Given the description of an element on the screen output the (x, y) to click on. 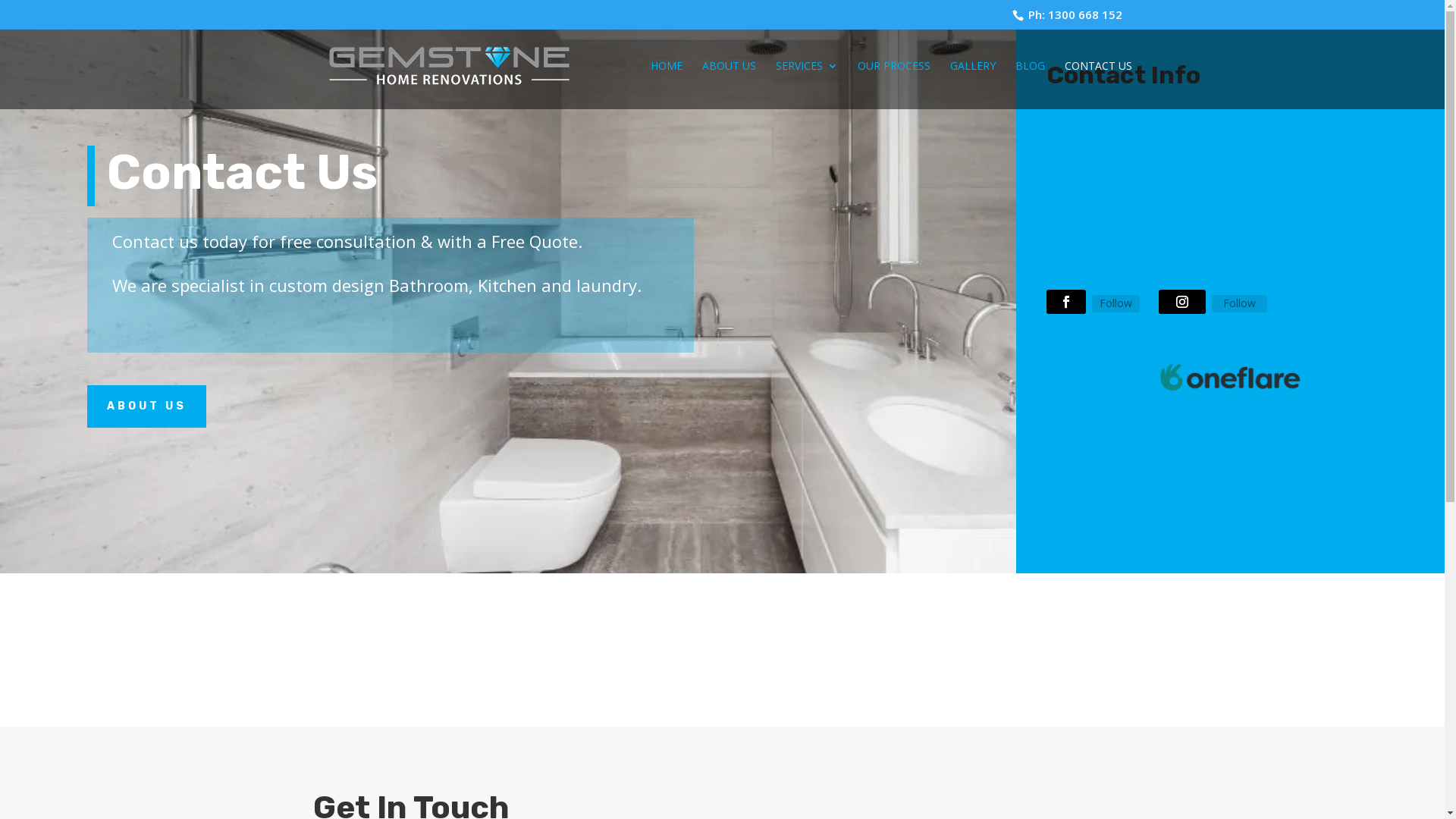
ABOUT US Element type: text (146, 406)
Follow Element type: text (1115, 302)
Follow on Facebook Element type: hover (1065, 301)
Follow Element type: text (1239, 302)
HOME Element type: text (666, 84)
OUR PROCESS Element type: text (892, 84)
1300 668 152 Element type: text (1085, 13)
BLOG Element type: text (1029, 84)
CONTACT US Element type: text (1098, 84)
GALLERY Element type: text (971, 84)
ABOUT US Element type: text (729, 84)
Follow on Instagram Element type: hover (1181, 301)
SERVICES Element type: text (806, 84)
